Given the description of an element on the screen output the (x, y) to click on. 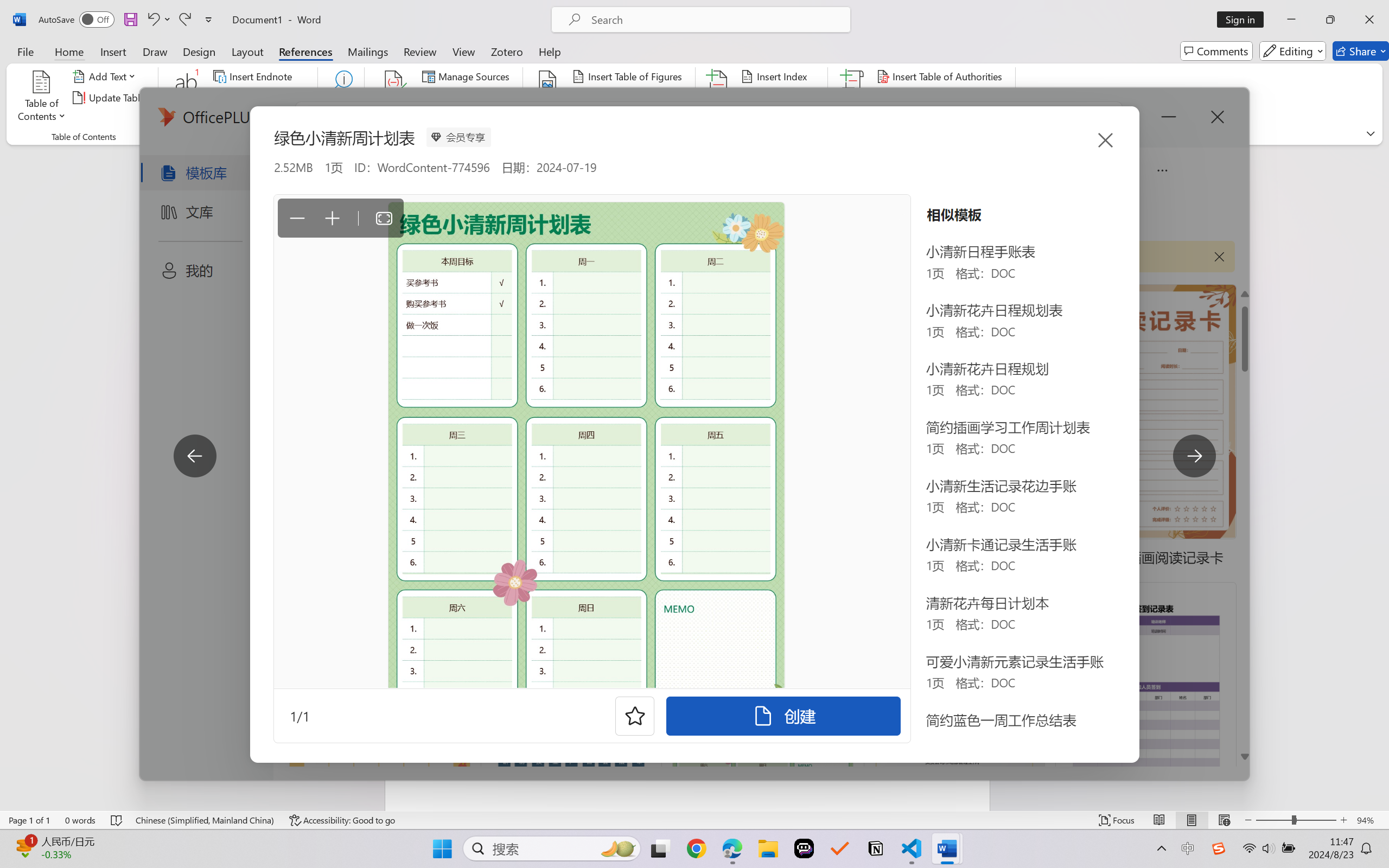
Insert Table of Figures... (628, 75)
Cross-reference... (615, 118)
